Given the description of an element on the screen output the (x, y) to click on. 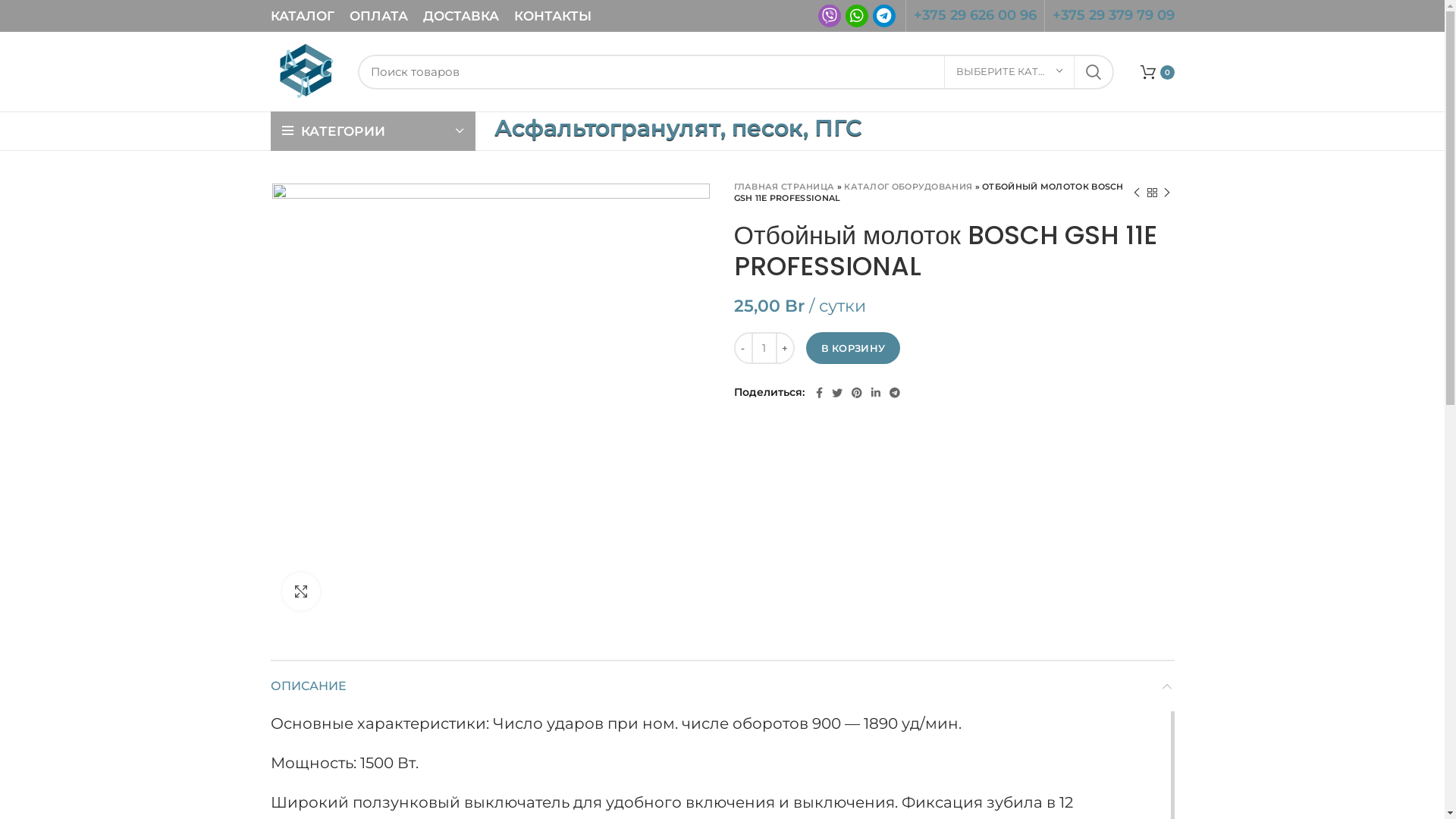
Viber Element type: hover (828, 15)
WhatsApp Element type: hover (855, 15)
Telegram Element type: hover (883, 15)
+375 Element type: text (929, 14)
29 626 00 96 Element type: text (991, 14)
29 379 79 09 Element type: text (1128, 14)
Viber Element type: hover (829, 15)
WhatsApp Element type: hover (855, 15)
Telegram Element type: hover (883, 15)
Qty Element type: hover (763, 348)
0 Element type: text (1157, 71)
+375 Element type: text (1068, 14)
